Given the description of an element on the screen output the (x, y) to click on. 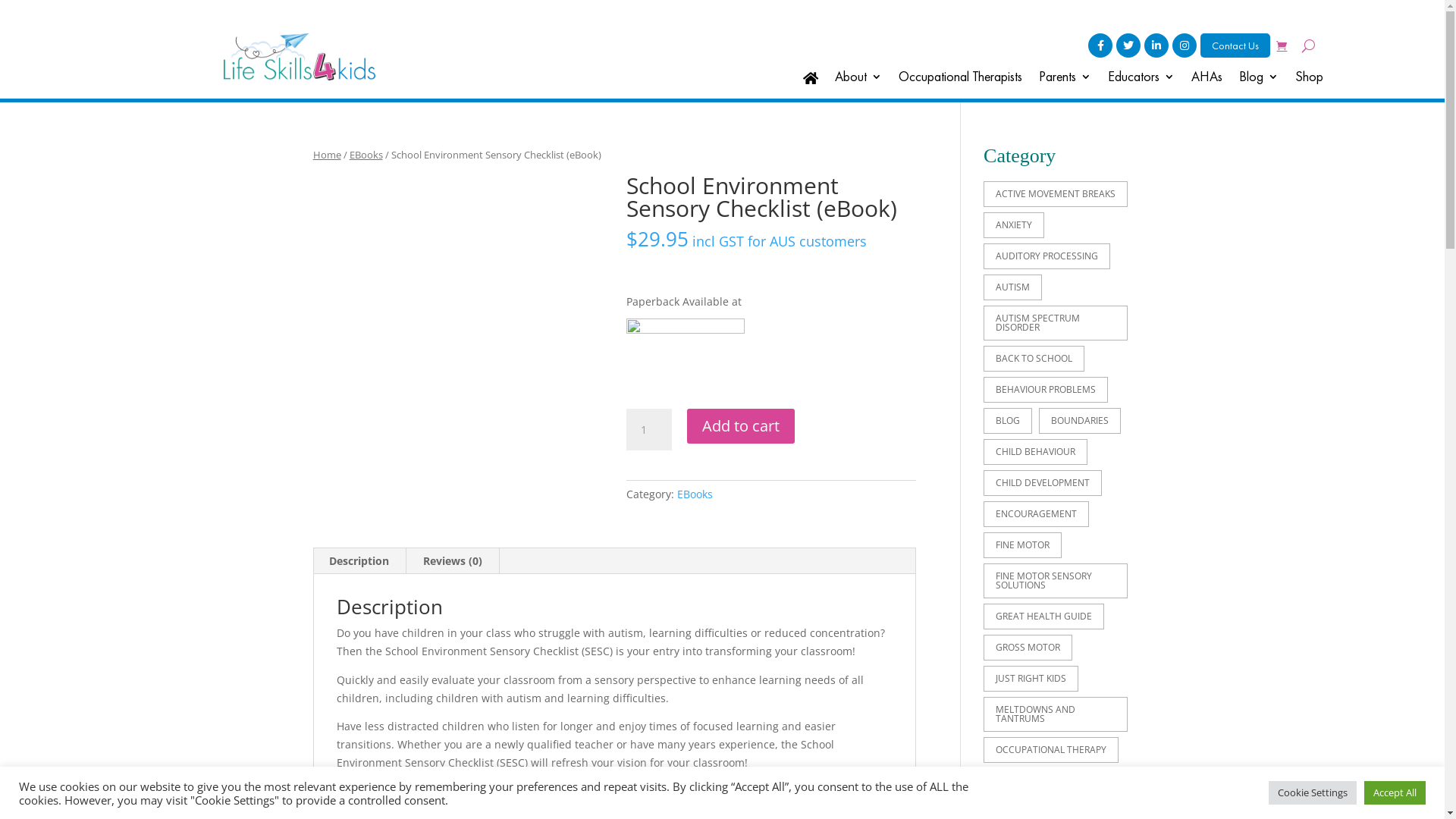
Educators Element type: text (1140, 81)
AUDITORY PROCESSING Element type: text (1046, 256)
Parents Element type: text (1064, 81)
Cookie Settings Element type: text (1312, 792)
BOUNDARIES Element type: text (1079, 420)
AUTISM Element type: text (1012, 287)
Accept All Element type: text (1394, 792)
PLAY Element type: text (1006, 780)
Shop Element type: text (1309, 81)
BACK TO SCHOOL Element type: text (1033, 358)
CHILD DEVELOPMENT Element type: text (1042, 482)
GROSS MOTOR Element type: text (1027, 647)
Add to cart Element type: text (740, 425)
FINE MOTOR SENSORY SOLUTIONS Element type: text (1055, 580)
Occupational Therapists Element type: text (960, 81)
AHAs Element type: text (1206, 81)
ANXIETY Element type: text (1013, 225)
EBooks Element type: text (694, 493)
Blog Element type: text (1258, 81)
BLOG Element type: text (1007, 420)
Contact Us Element type: text (1235, 45)
EBooks Element type: text (365, 154)
JUST RIGHT KIDS Element type: text (1030, 678)
PODCAST Element type: text (1068, 780)
AUTISM SPECTRUM DISORDER Element type: text (1055, 322)
OCCUPATIONAL THERAPY Element type: text (1050, 749)
FINE MOTOR Element type: text (1022, 545)
CHILD BEHAVIOUR Element type: text (1035, 451)
GREAT HEALTH GUIDE Element type: text (1043, 616)
Home Element type: text (326, 154)
Description Element type: text (358, 561)
ACTIVE MOVEMENT BREAKS Element type: text (1055, 194)
MELTDOWNS AND TANTRUMS Element type: text (1055, 714)
BEHAVIOUR PROBLEMS Element type: text (1045, 389)
ENCOURAGEMENT Element type: text (1036, 514)
About Element type: text (857, 81)
Reviews (0) Element type: text (452, 561)
